Given the description of an element on the screen output the (x, y) to click on. 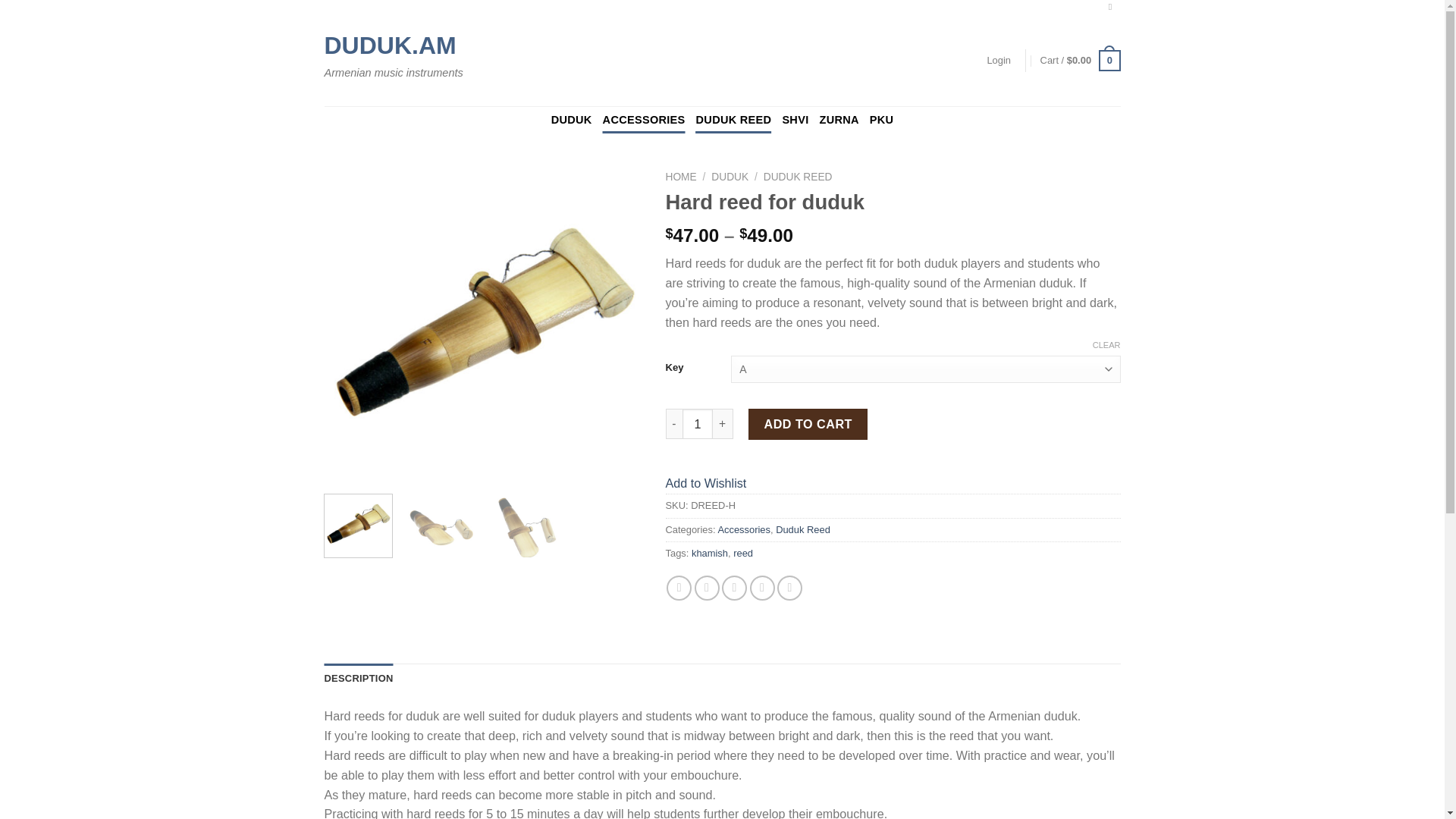
SHVI (794, 119)
reed (742, 552)
DUDUK.AM (403, 45)
Duduk Reed (802, 529)
CLEAR (1107, 344)
1 (697, 423)
Login (998, 60)
Cart (1081, 60)
Share on Twitter (706, 587)
Share on Facebook (678, 587)
